Given the description of an element on the screen output the (x, y) to click on. 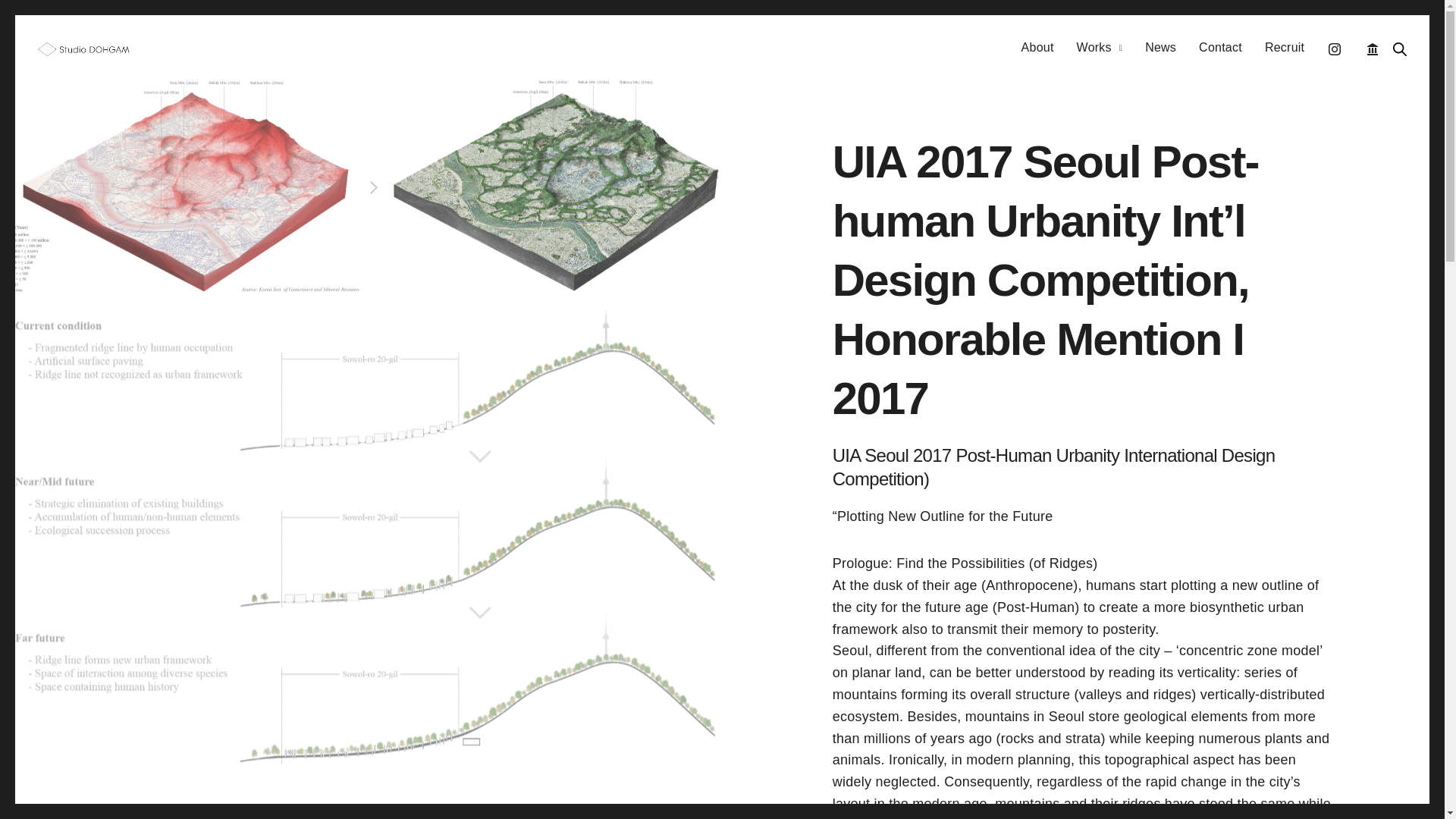
Studio DOHGAM (83, 49)
Contact (1219, 49)
Works (1099, 49)
Search (1399, 49)
